Given the description of an element on the screen output the (x, y) to click on. 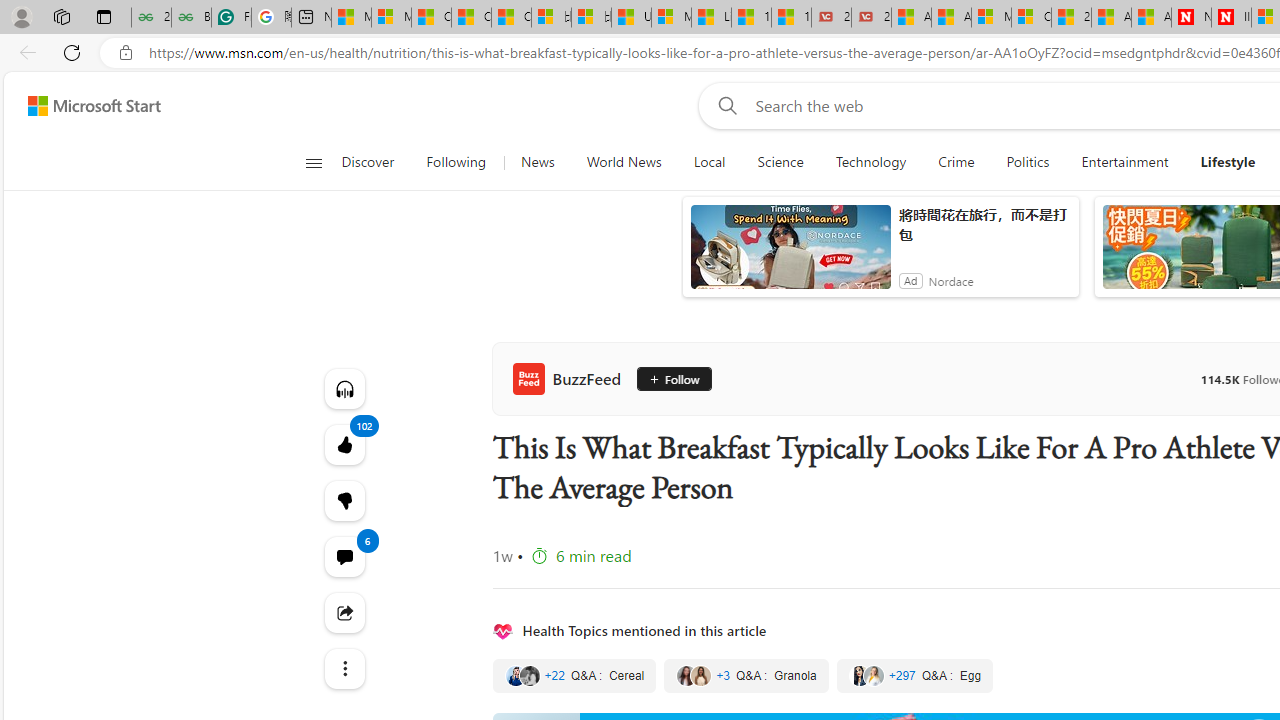
USA TODAY - MSN (631, 17)
15 Ways Modern Life Contradicts the Teachings of Jesus (791, 17)
Share this story (343, 612)
102 Like (343, 444)
